Given the description of an element on the screen output the (x, y) to click on. 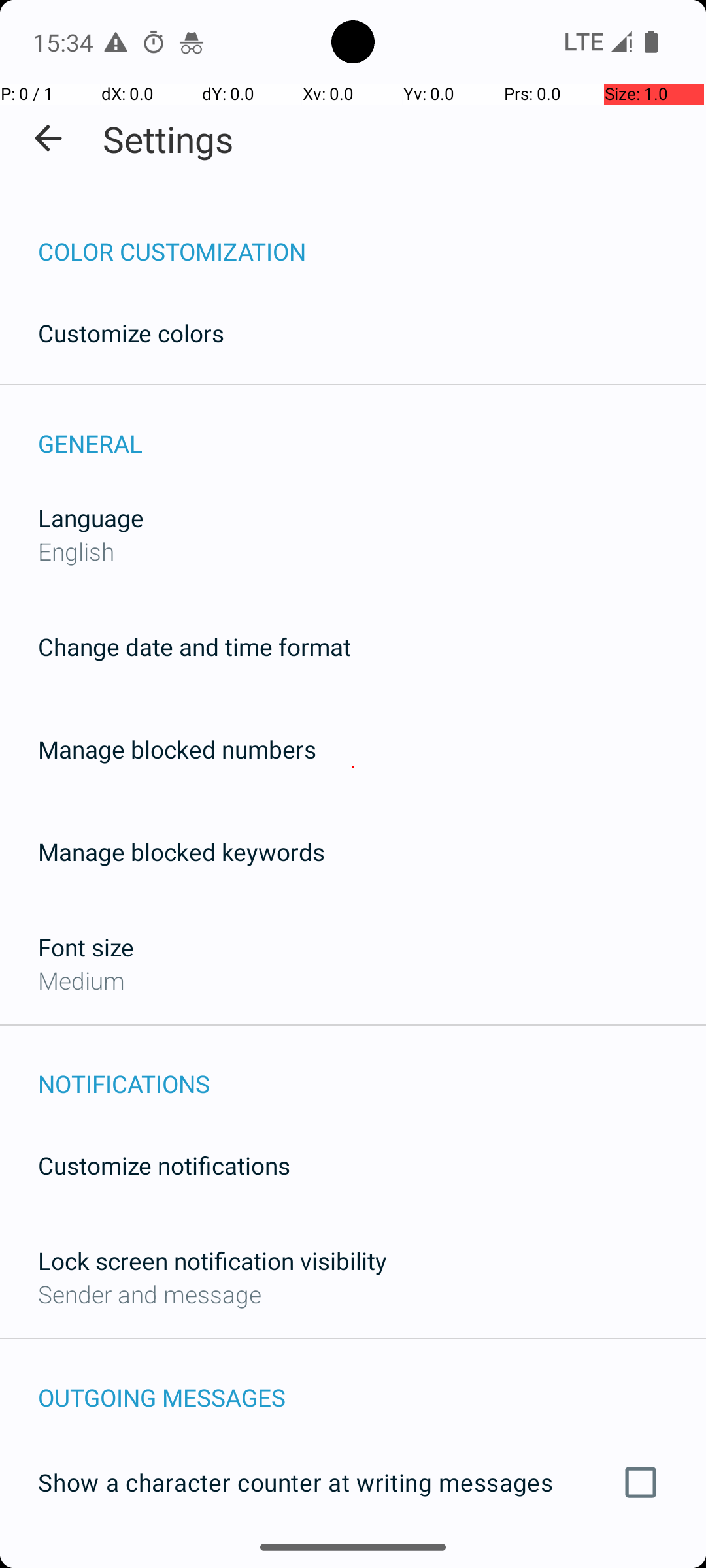
NOTIFICATIONS Element type: android.widget.TextView (371, 1069)
OUTGOING MESSAGES Element type: android.widget.TextView (371, 1383)
Change date and time format Element type: android.widget.TextView (194, 646)
Manage blocked numbers Element type: android.widget.TextView (176, 748)
Manage blocked keywords Element type: android.widget.TextView (180, 851)
Font size Element type: android.widget.TextView (85, 946)
Medium Element type: android.widget.TextView (80, 979)
Lock screen notification visibility Element type: android.widget.TextView (211, 1260)
Sender and message Element type: android.widget.TextView (149, 1293)
Show a character counter at writing messages Element type: android.widget.CheckBox (352, 1482)
Remove accents and diacritics at sending messages Element type: android.widget.CheckBox (352, 1559)
